Given the description of an element on the screen output the (x, y) to click on. 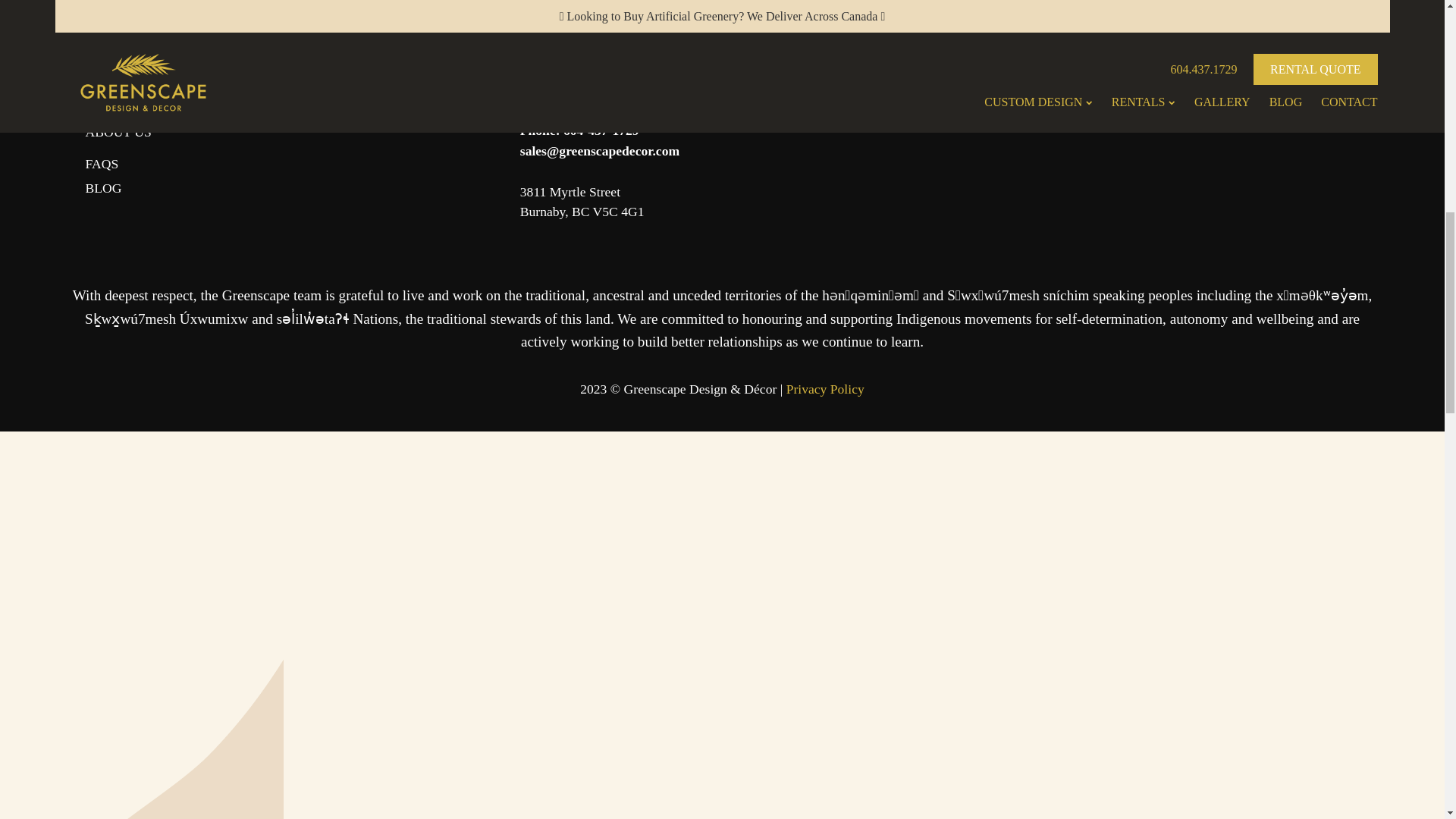
BLOG (103, 187)
604-437-1729 (601, 130)
ABOUT US (118, 131)
CONTACT (582, 201)
Privacy Policy (116, 107)
RENTALS (823, 388)
FAQS (114, 83)
